Given the description of an element on the screen output the (x, y) to click on. 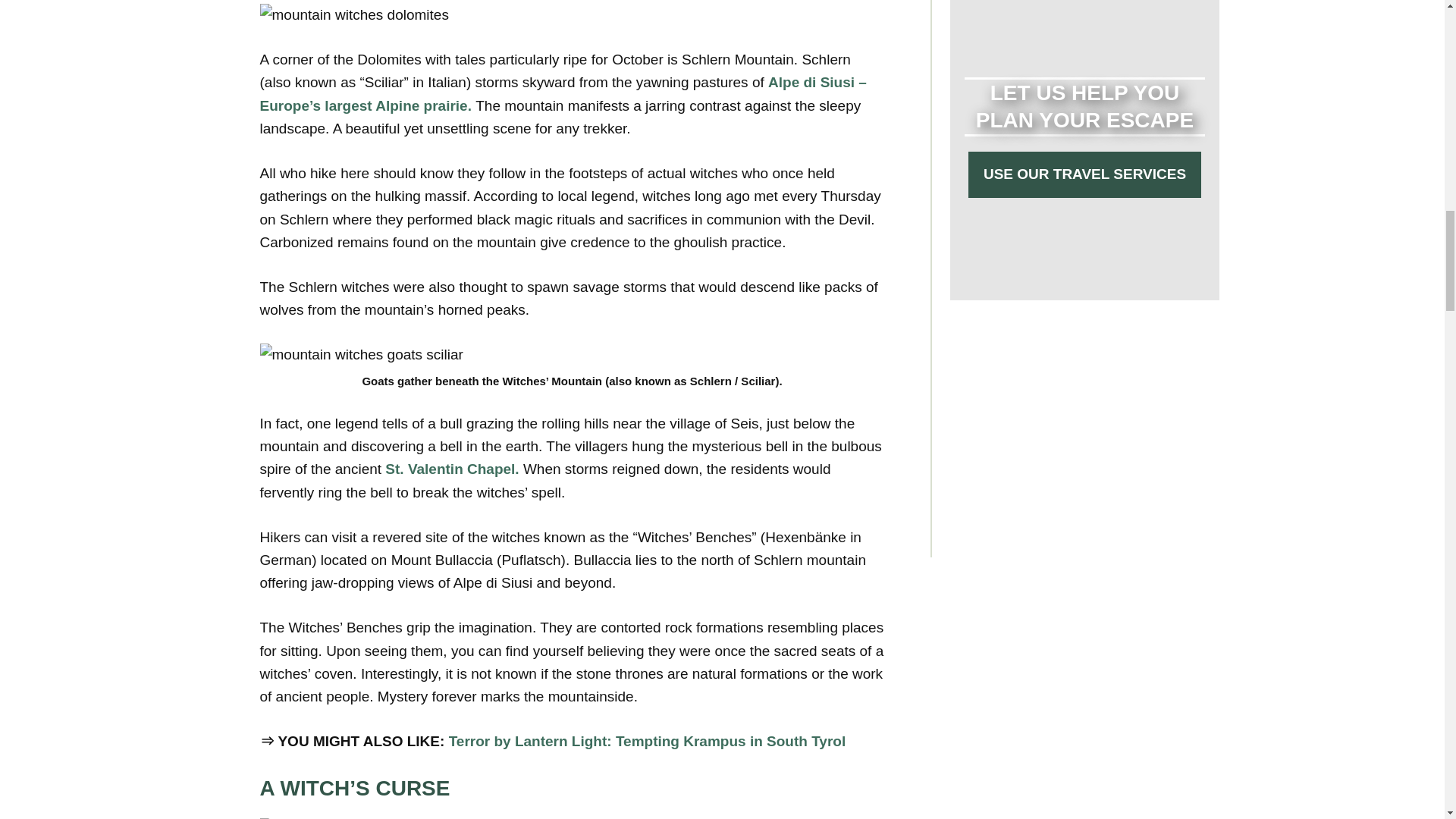
Spellbound in the Dolomites: Hiking the Witches' Mountain 2 (353, 15)
Spellbound in the Dolomites: Hiking the Witches' Mountain 3 (361, 354)
